Given the description of an element on the screen output the (x, y) to click on. 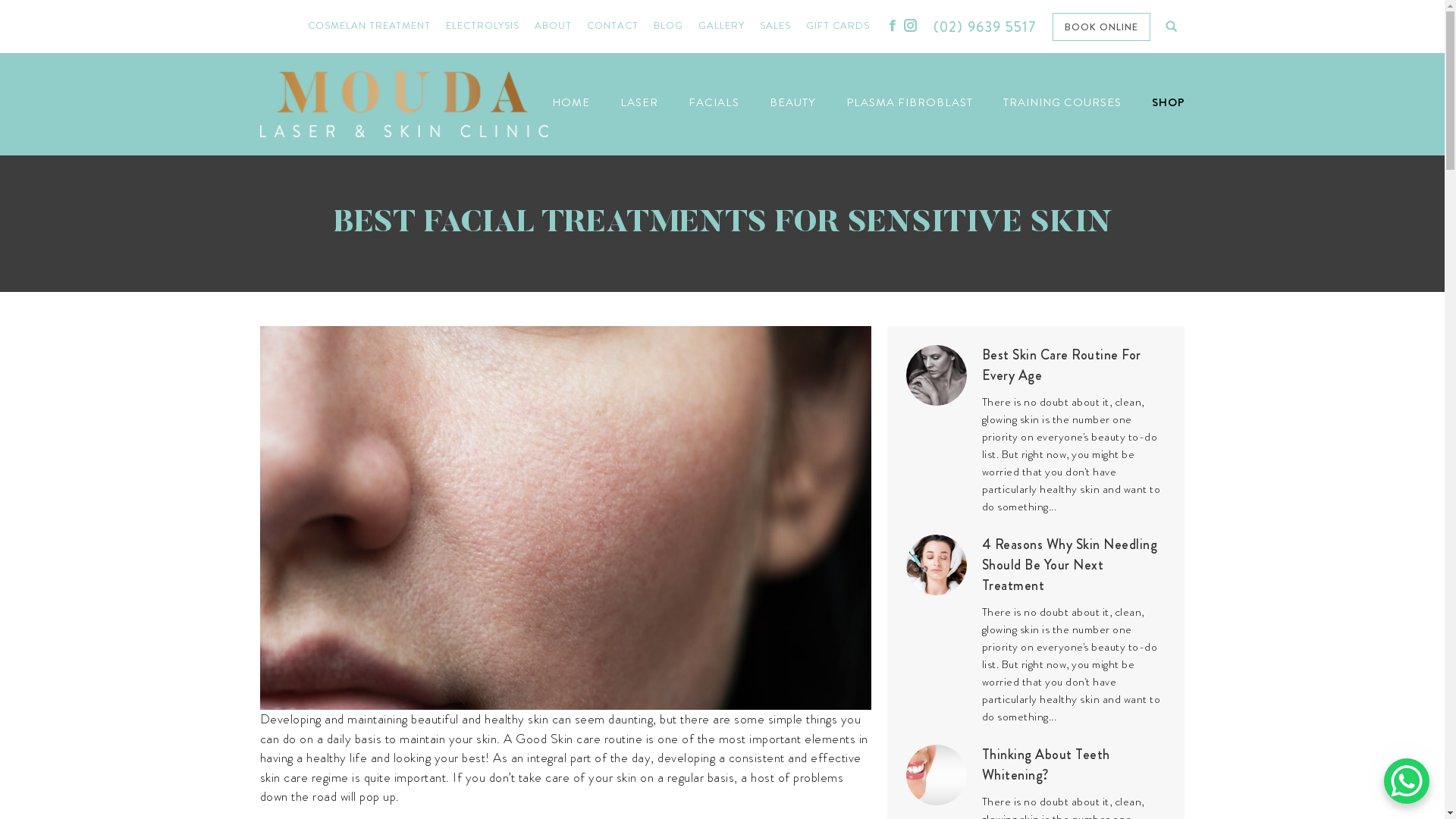
BLOG Element type: text (668, 26)
(02) 9639 5517 Element type: text (985, 26)
SHOP Element type: text (1167, 102)
Instagram Element type: text (910, 24)
GALLERY Element type: text (721, 26)
BEAUTY Element type: text (791, 102)
ELECTROLYSIS Element type: text (482, 26)
FACIALS Element type: text (713, 102)
GIFT CARDS Element type: text (837, 26)
CONTACT Element type: text (612, 26)
HOME Element type: text (570, 102)
ABOUT Element type: text (552, 26)
Best Skin Care Routine For Every Age Element type: text (1074, 365)
Go! Element type: text (46, 18)
4 Reasons Why Skin Needling Should Be Your Next Treatment Element type: text (1074, 565)
Thinking About Teeth Whitening? Element type: text (1074, 764)
TRAINING COURSES Element type: text (1061, 102)
COSMELAN TREATMENT Element type: text (368, 26)
  Element type: text (1170, 26)
BOOK ONLINE Element type: text (1101, 26)
Facebook Element type: text (892, 24)
SALES Element type: text (774, 26)
PLASMA FIBROBLAST Element type: text (909, 102)
LASER Element type: text (639, 102)
